Given the description of an element on the screen output the (x, y) to click on. 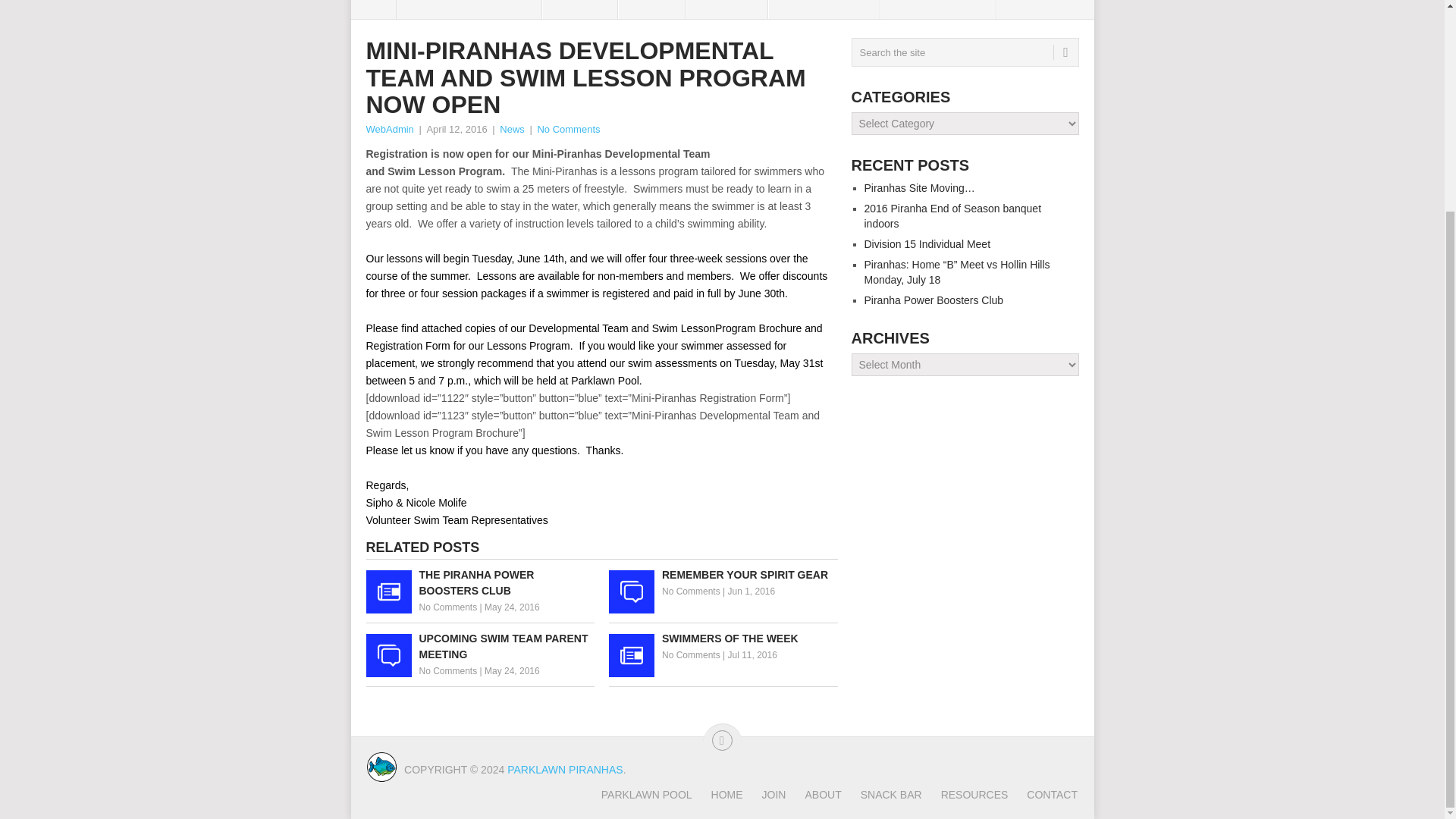
HOME (579, 9)
2016 Piranha End of Season banquet indoors (953, 216)
No Comments (448, 670)
No Comments (568, 129)
PARKLAWN POOL (468, 9)
UPCOMING SWIM TEAM PARENT MEETING (479, 646)
No Comments (448, 606)
WebAdmin (389, 129)
ABOUT (726, 9)
THE PIRANHA POWER BOOSTERS CLUB (479, 582)
News (511, 129)
No Comments (691, 591)
Parklawn Recreation Association's Swim team (564, 769)
Division 15 Individual Meet (927, 244)
JOIN (651, 9)
